Given the description of an element on the screen output the (x, y) to click on. 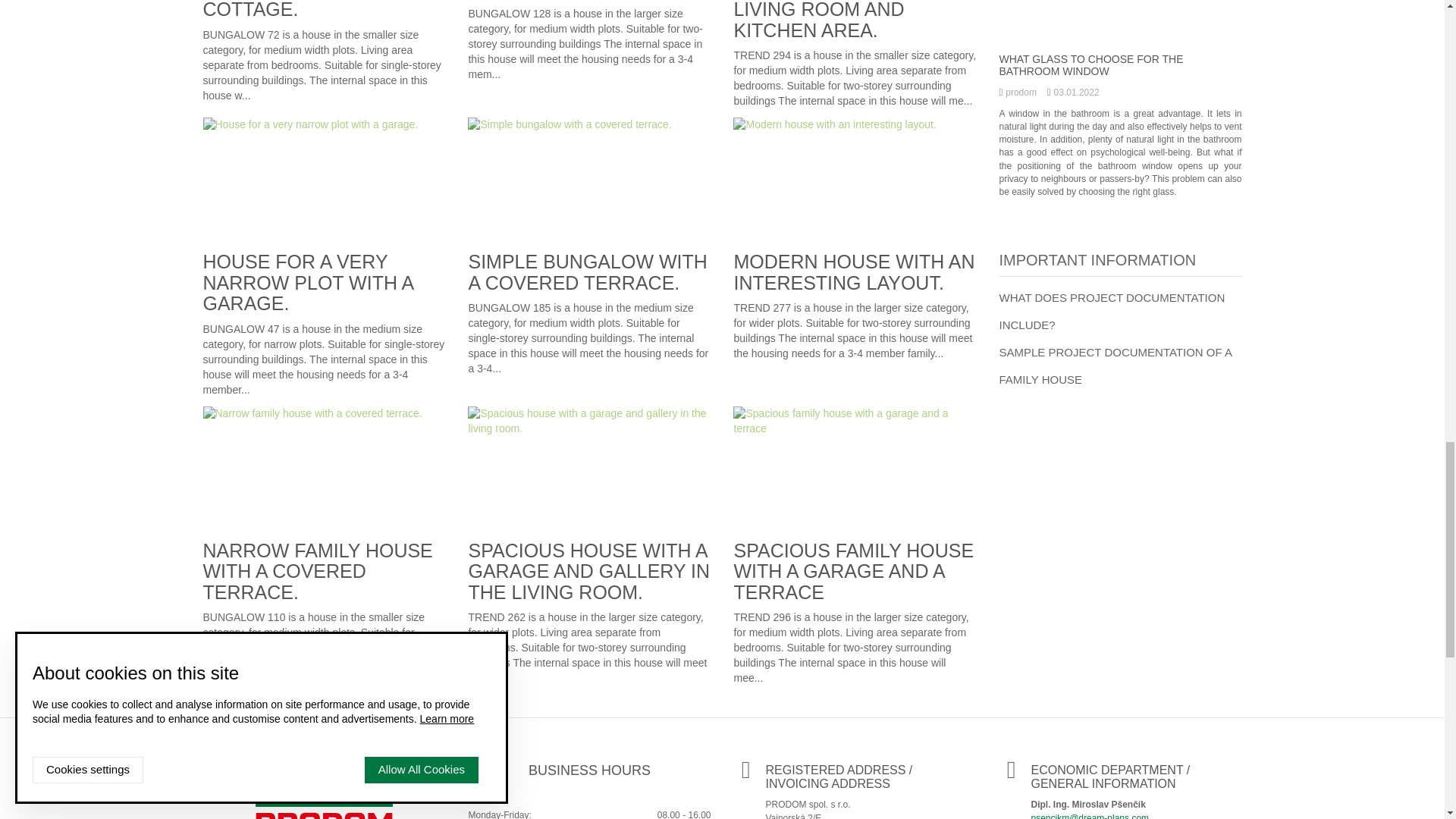
dream-plans.com (323, 795)
